Given the description of an element on the screen output the (x, y) to click on. 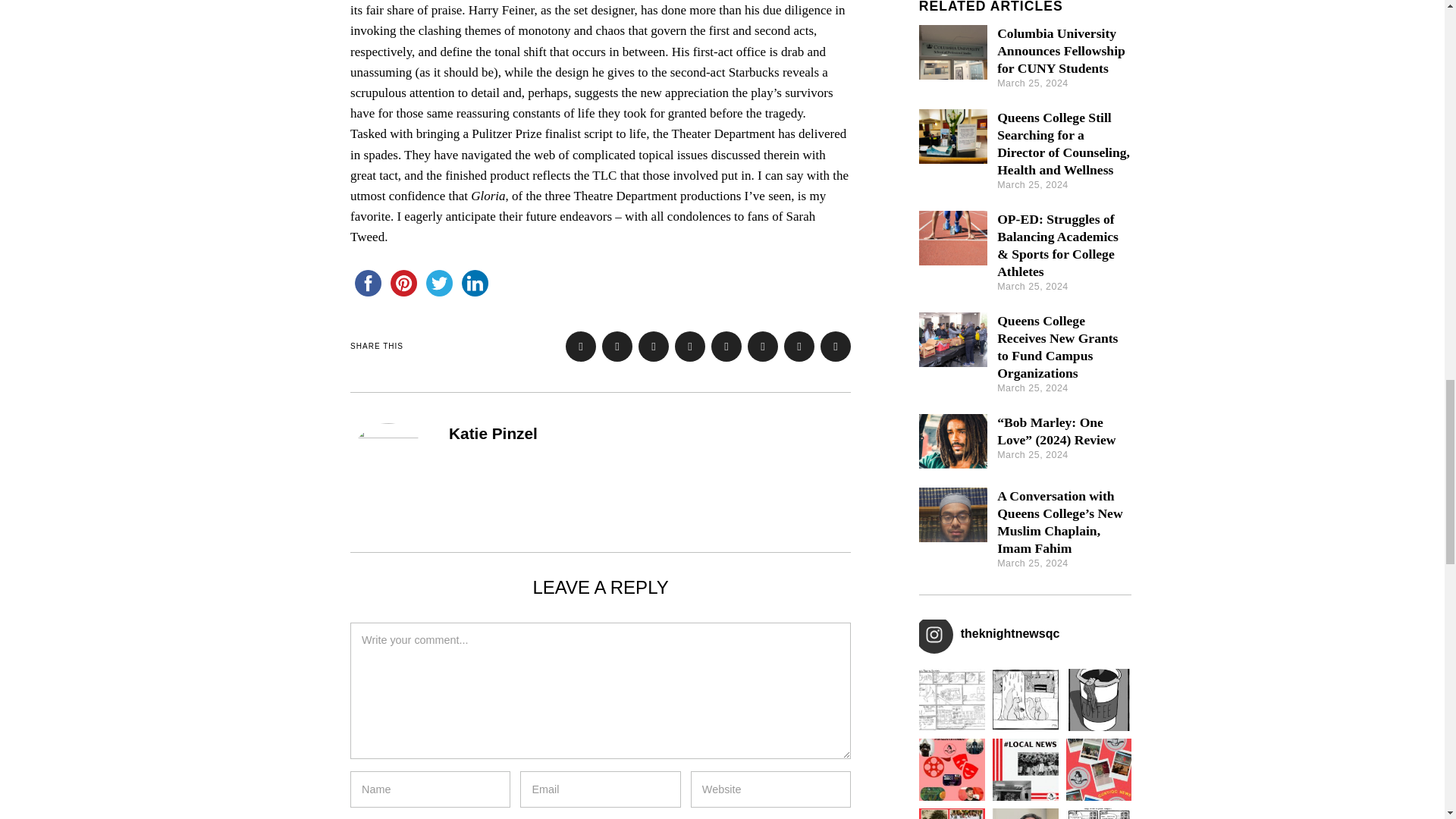
facebook (367, 283)
pinterest (403, 283)
twitter (439, 283)
linkedin (475, 283)
